Given the description of an element on the screen output the (x, y) to click on. 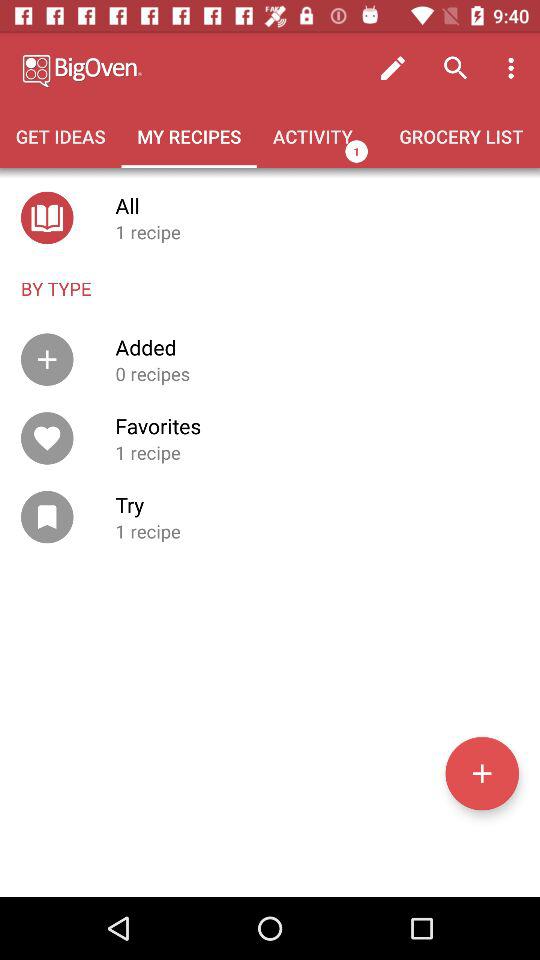
click item above the grocery list (513, 67)
